Given the description of an element on the screen output the (x, y) to click on. 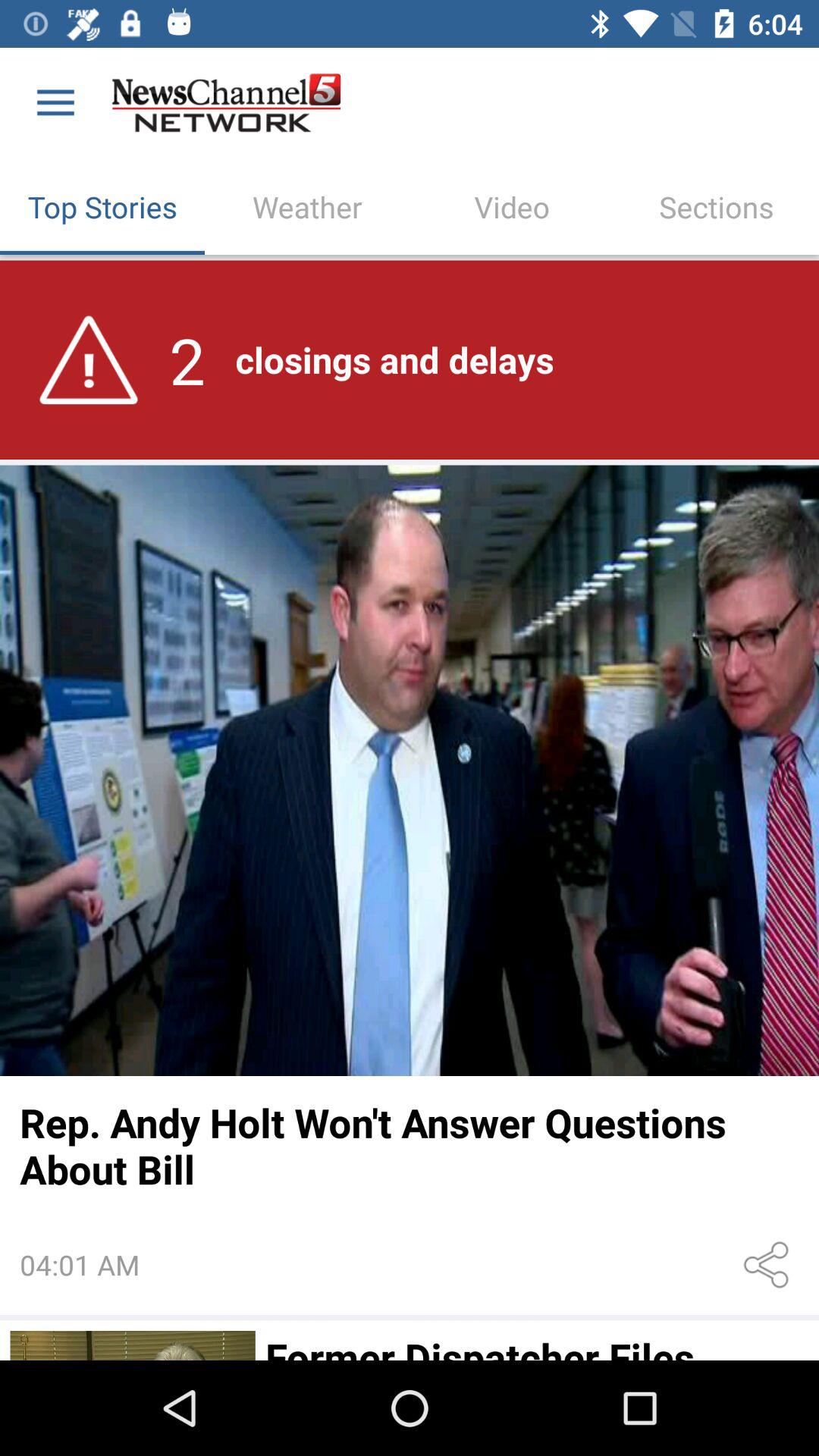
select option (132, 1345)
